Given the description of an element on the screen output the (x, y) to click on. 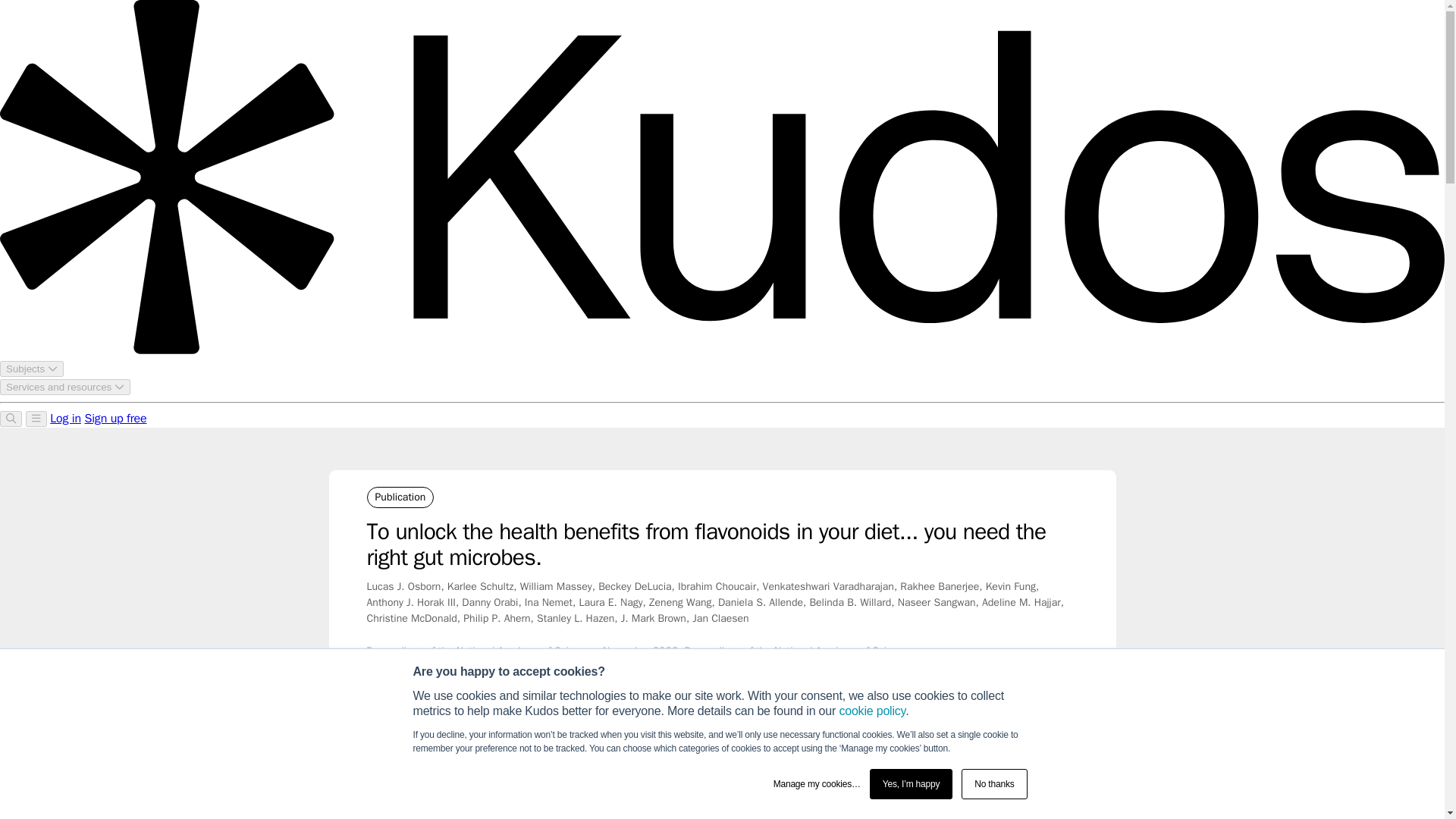
cookie policy (871, 710)
Proceedings of the National Academy of Sciences (588, 750)
Showcases (433, 750)
Read Article (997, 803)
Home (379, 750)
No thanks (993, 784)
Proceedings of the National Academy of Sciences (774, 750)
